Given the description of an element on the screen output the (x, y) to click on. 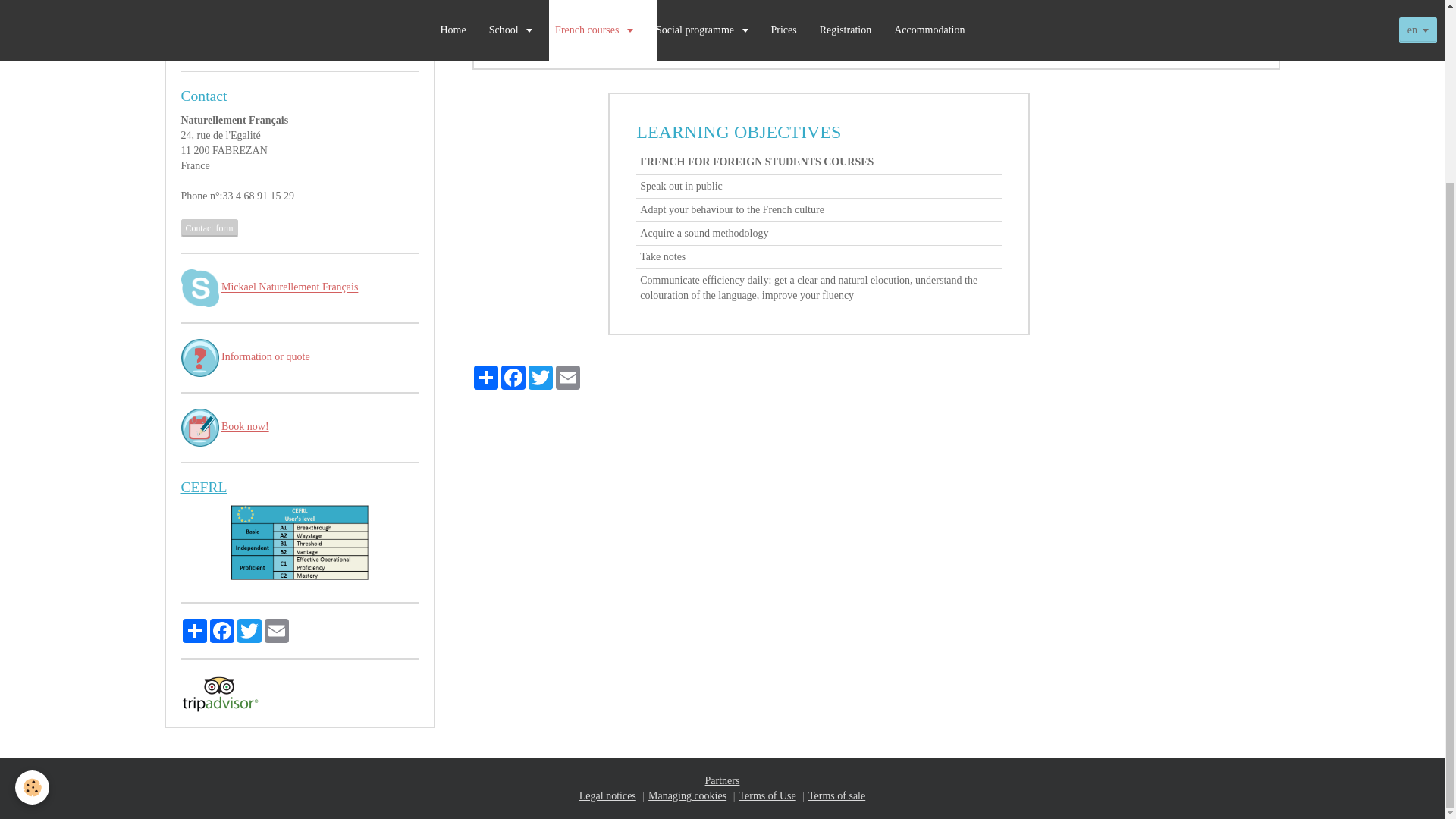
Book now! (245, 427)
CEFRL (203, 487)
Partager (485, 377)
FLE french language school France (299, 25)
Email (566, 377)
Information or quote (265, 357)
Tripadvisor (218, 692)
Contact form (208, 228)
Facebook (512, 377)
Contact (203, 95)
Twitter (539, 377)
